Given the description of an element on the screen output the (x, y) to click on. 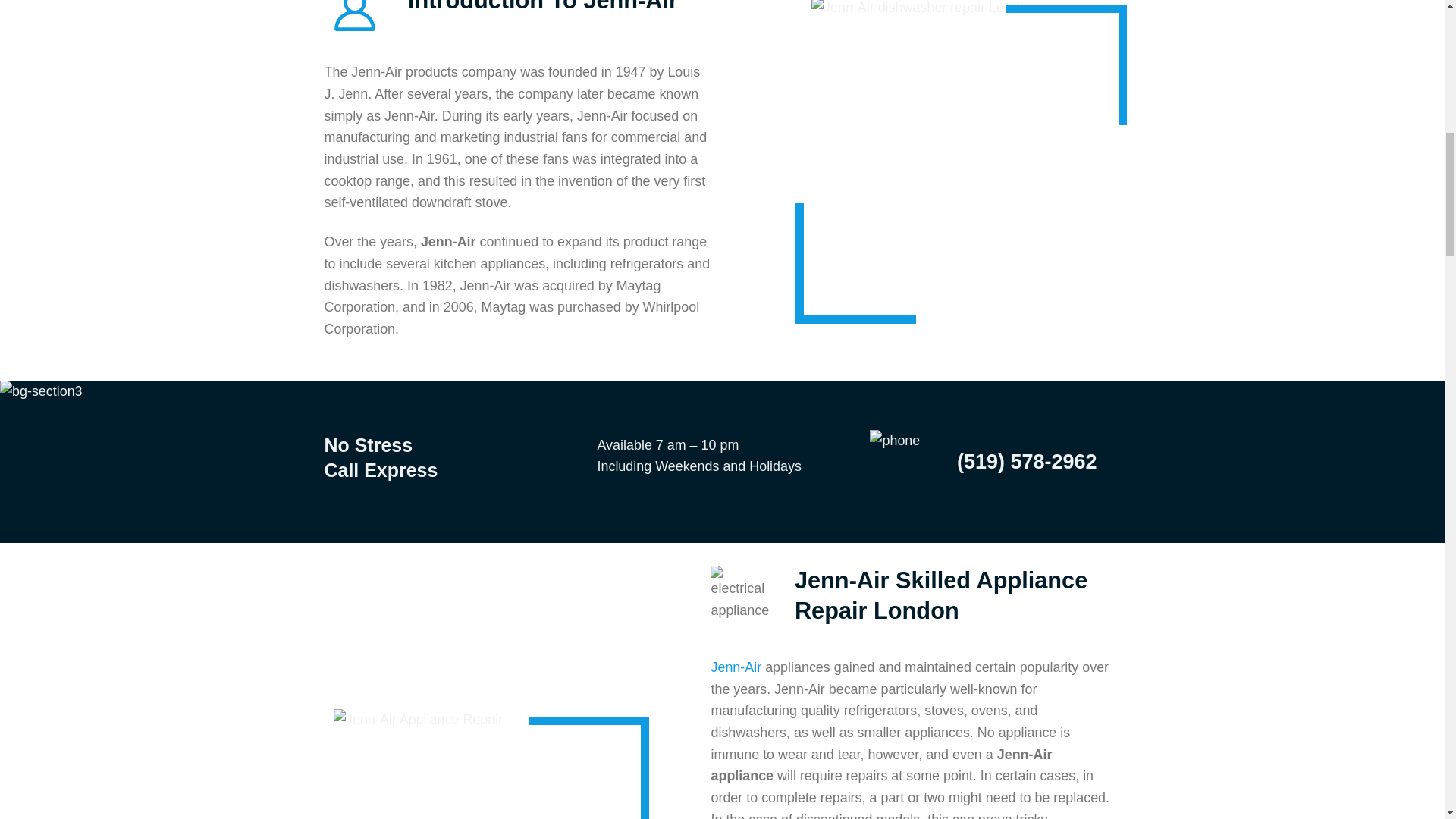
Jenn-Air (735, 667)
